Given the description of an element on the screen output the (x, y) to click on. 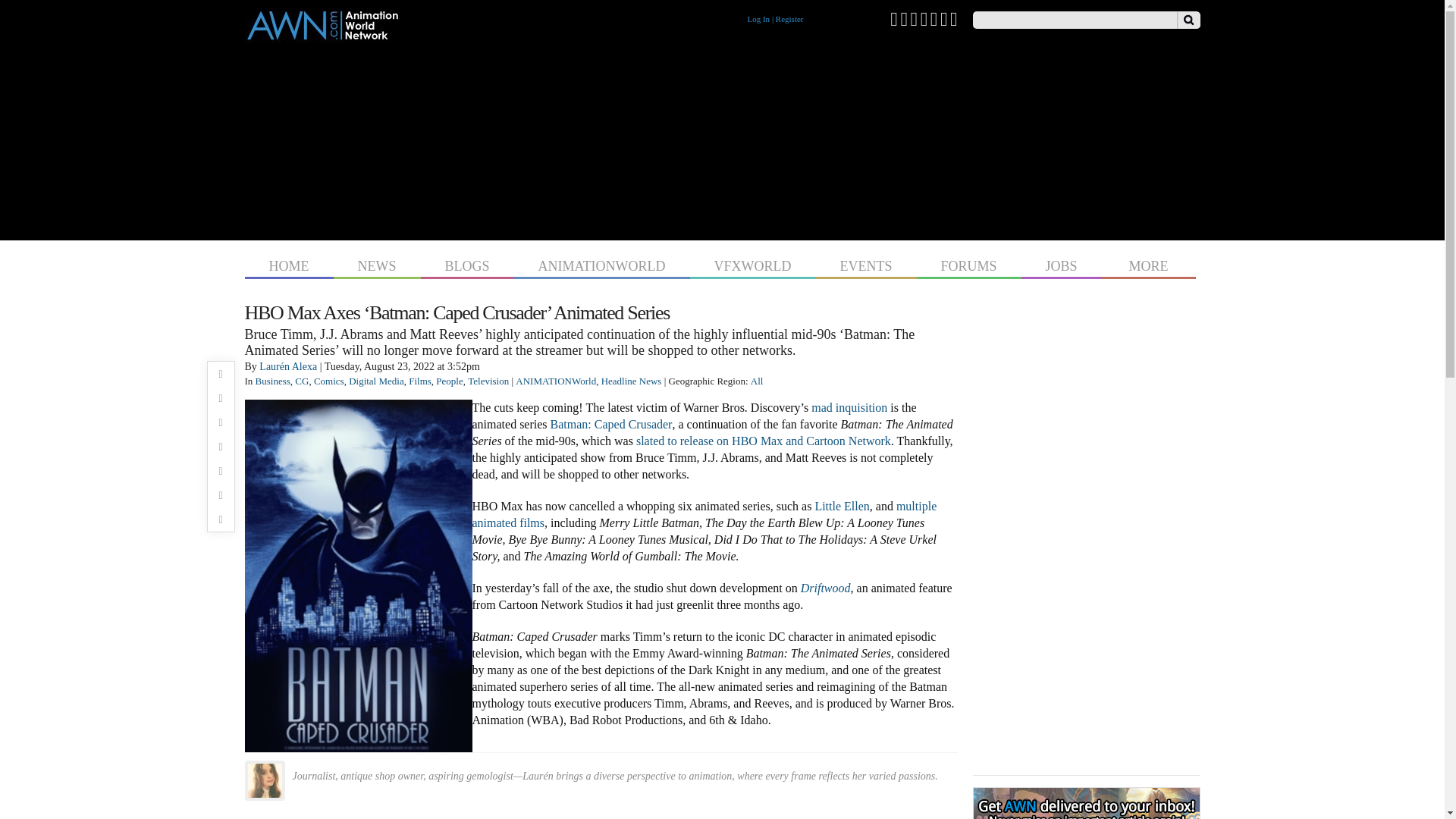
Register (789, 18)
VFXWORLD (752, 263)
Skip to main content (693, 1)
Enter the terms you wish to search for. (1074, 19)
Films (419, 380)
ANIMATIONWORLD (601, 263)
Search (1187, 19)
Digital Media (376, 380)
People (449, 380)
Business (272, 380)
